Given the description of an element on the screen output the (x, y) to click on. 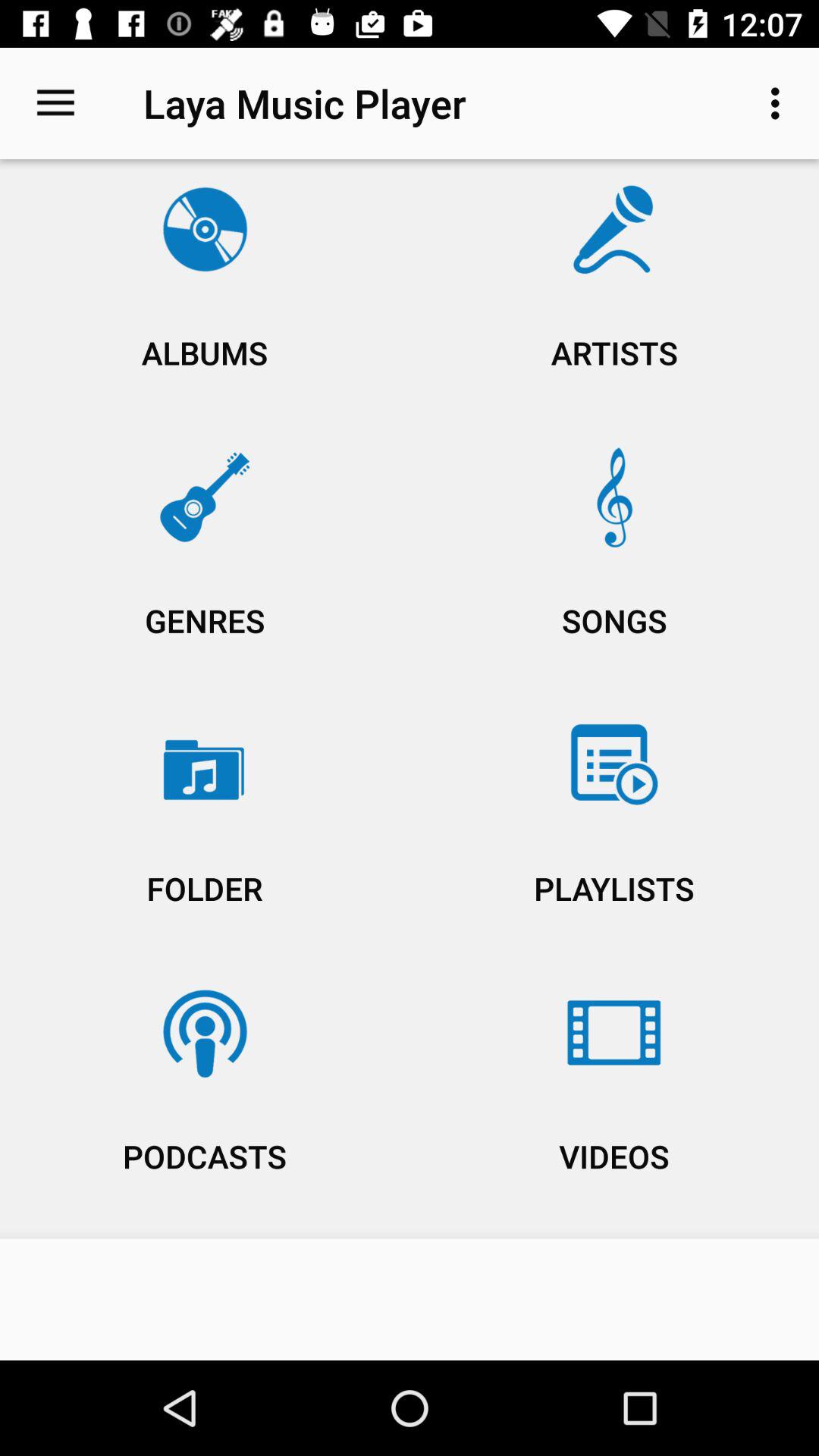
turn off icon above the podcasts (204, 832)
